Given the description of an element on the screen output the (x, y) to click on. 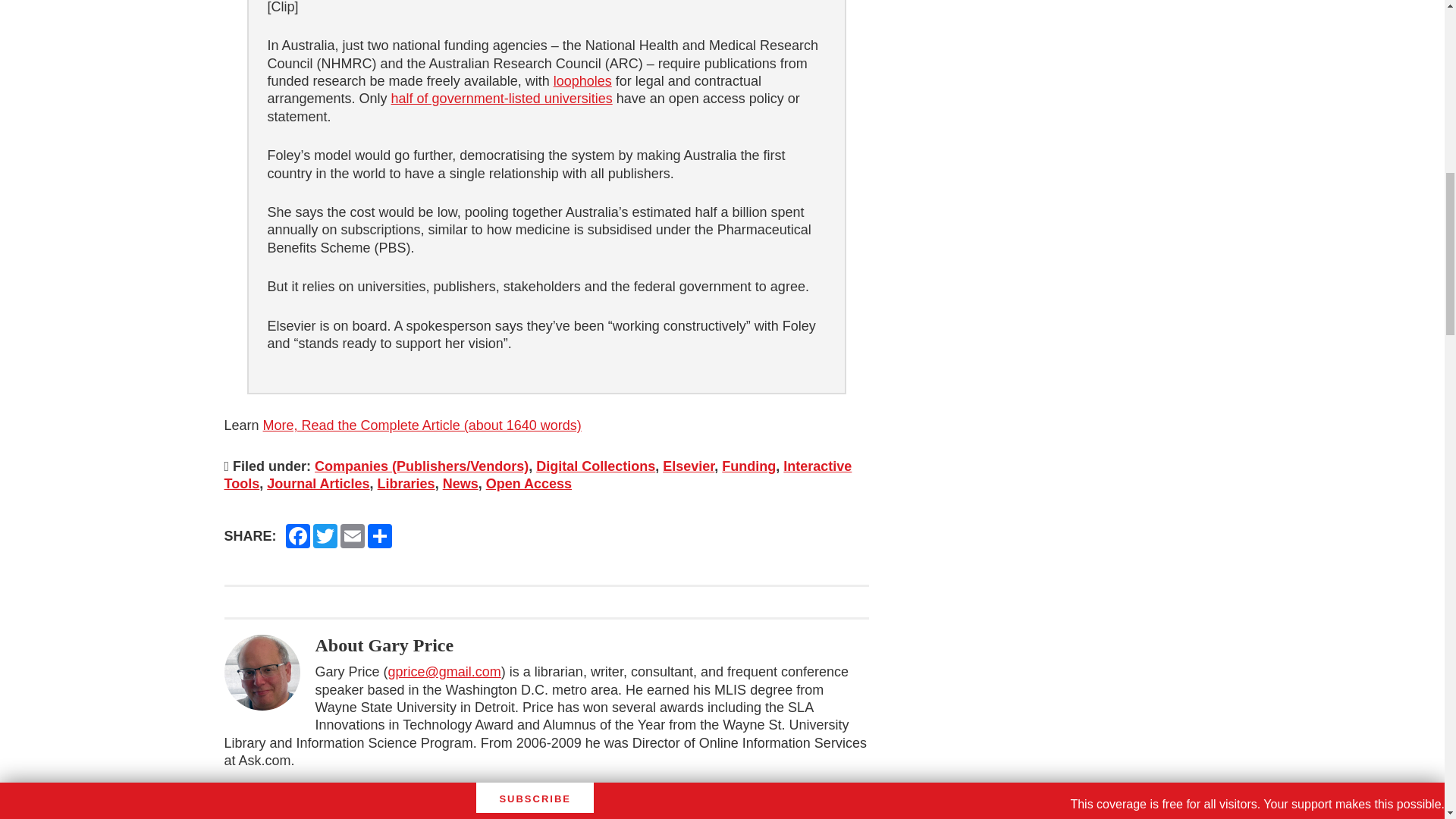
3rd party ad content (1106, 91)
